Given the description of an element on the screen output the (x, y) to click on. 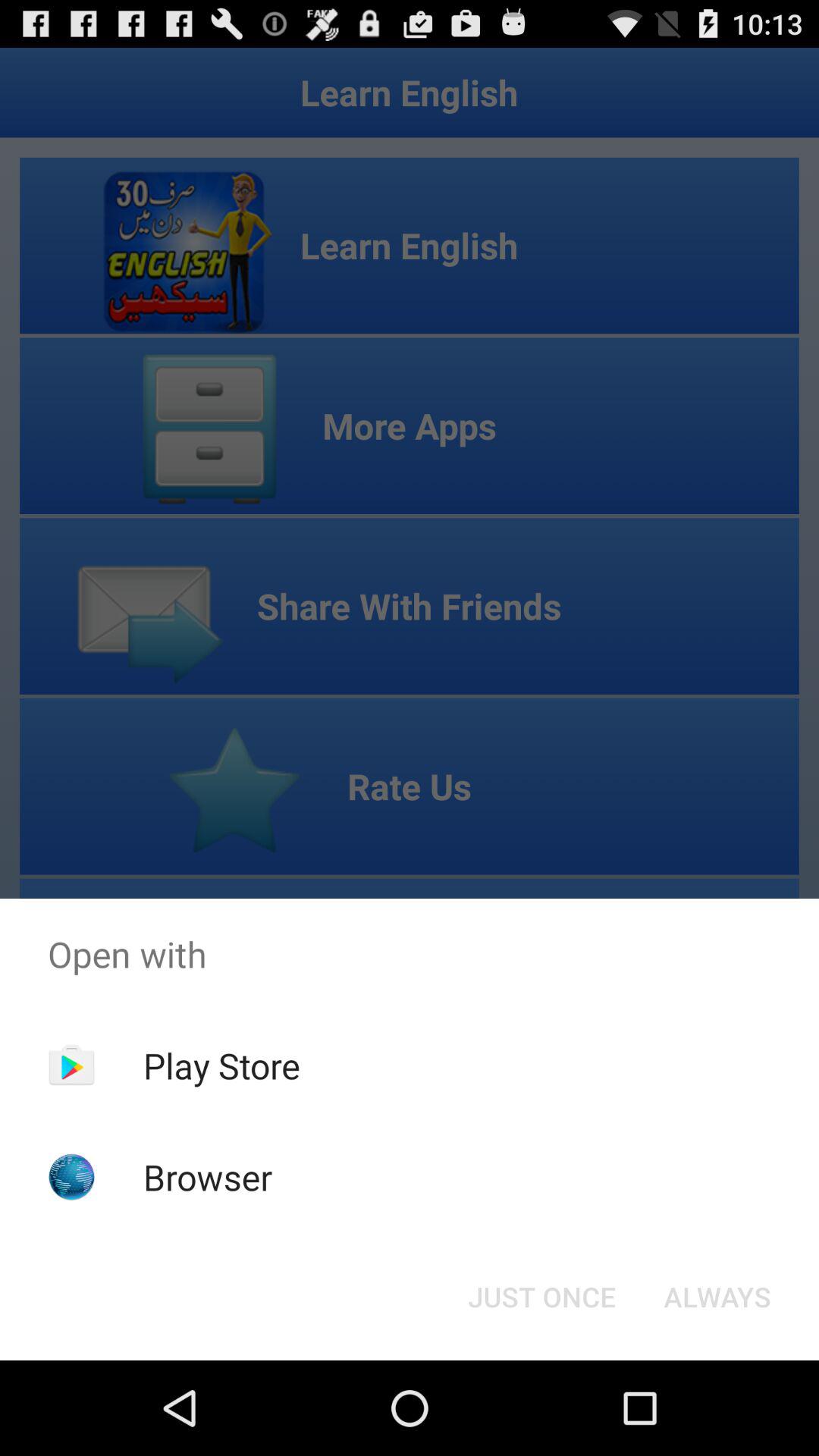
click icon below open with app (541, 1296)
